Given the description of an element on the screen output the (x, y) to click on. 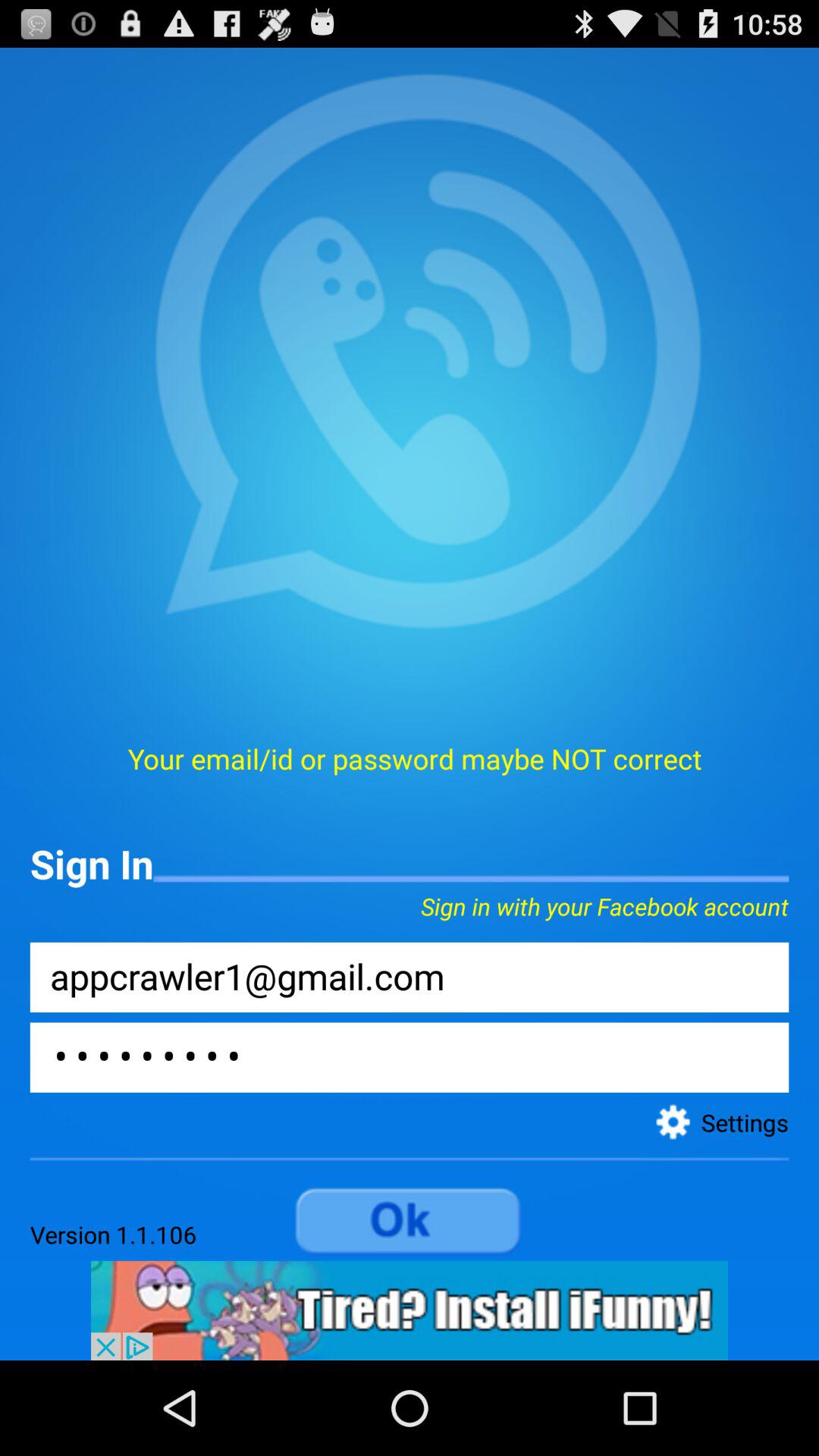
advertisement (409, 1310)
